Given the description of an element on the screen output the (x, y) to click on. 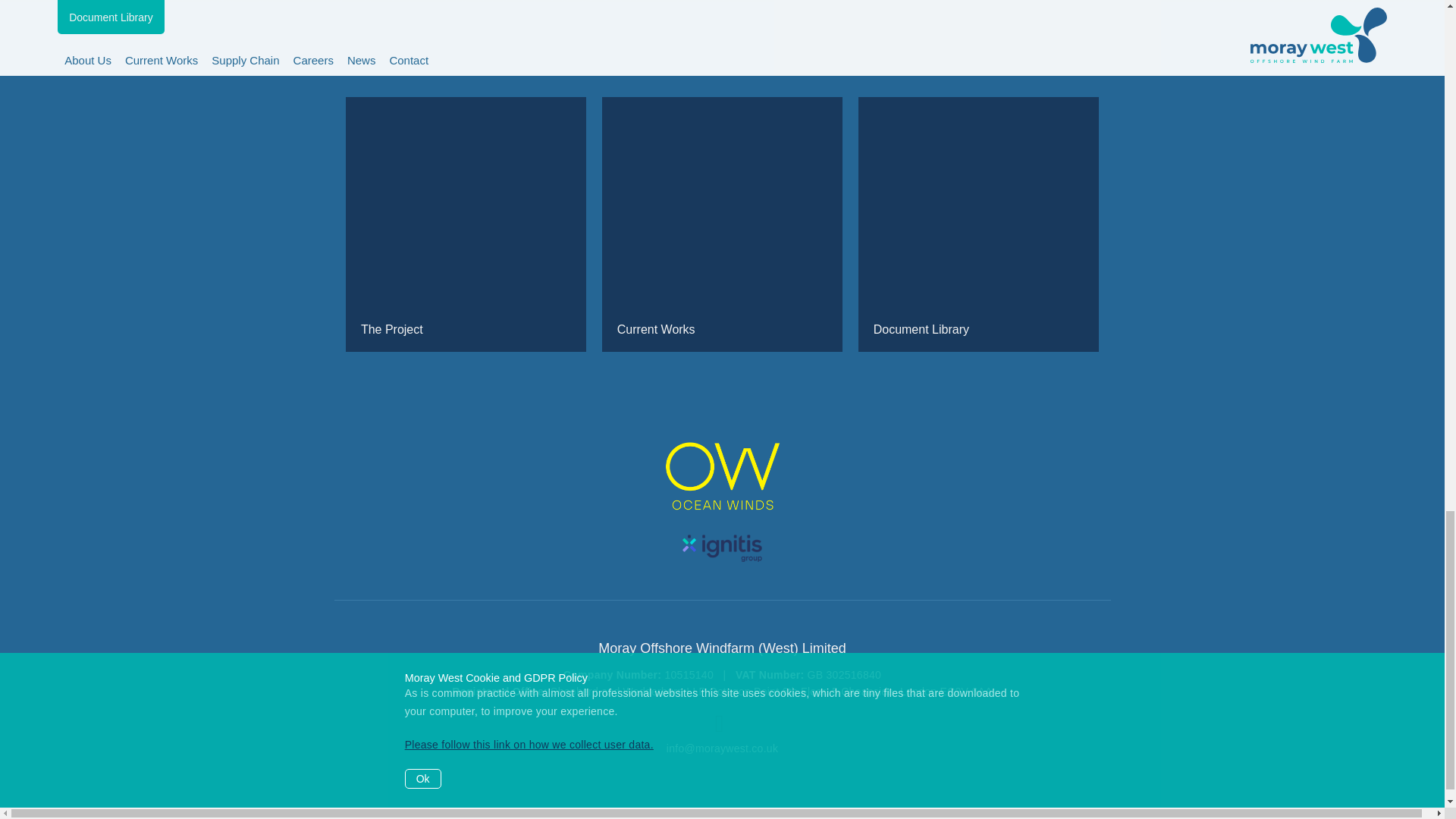
Cookie Policy (630, 809)
Current Works (722, 224)
Aurora Design Studio (975, 809)
The Project (466, 224)
Privacy Policy (769, 809)
Document Library (979, 224)
Terms of Use (697, 809)
